Given the description of an element on the screen output the (x, y) to click on. 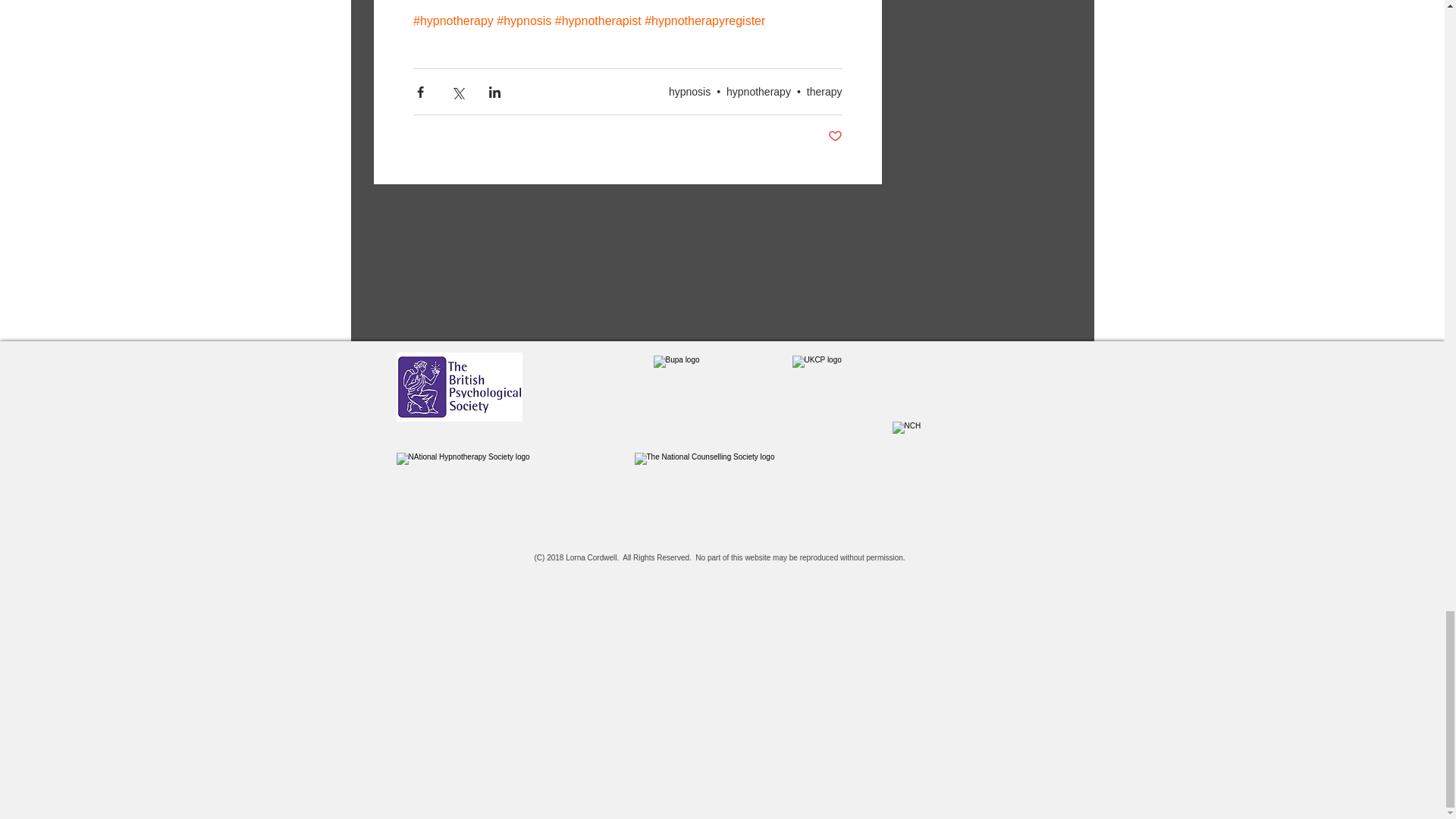
hypnotherapy (758, 91)
Post not marked as liked (835, 136)
therapy (824, 91)
hypnosis (689, 91)
